Given the description of an element on the screen output the (x, y) to click on. 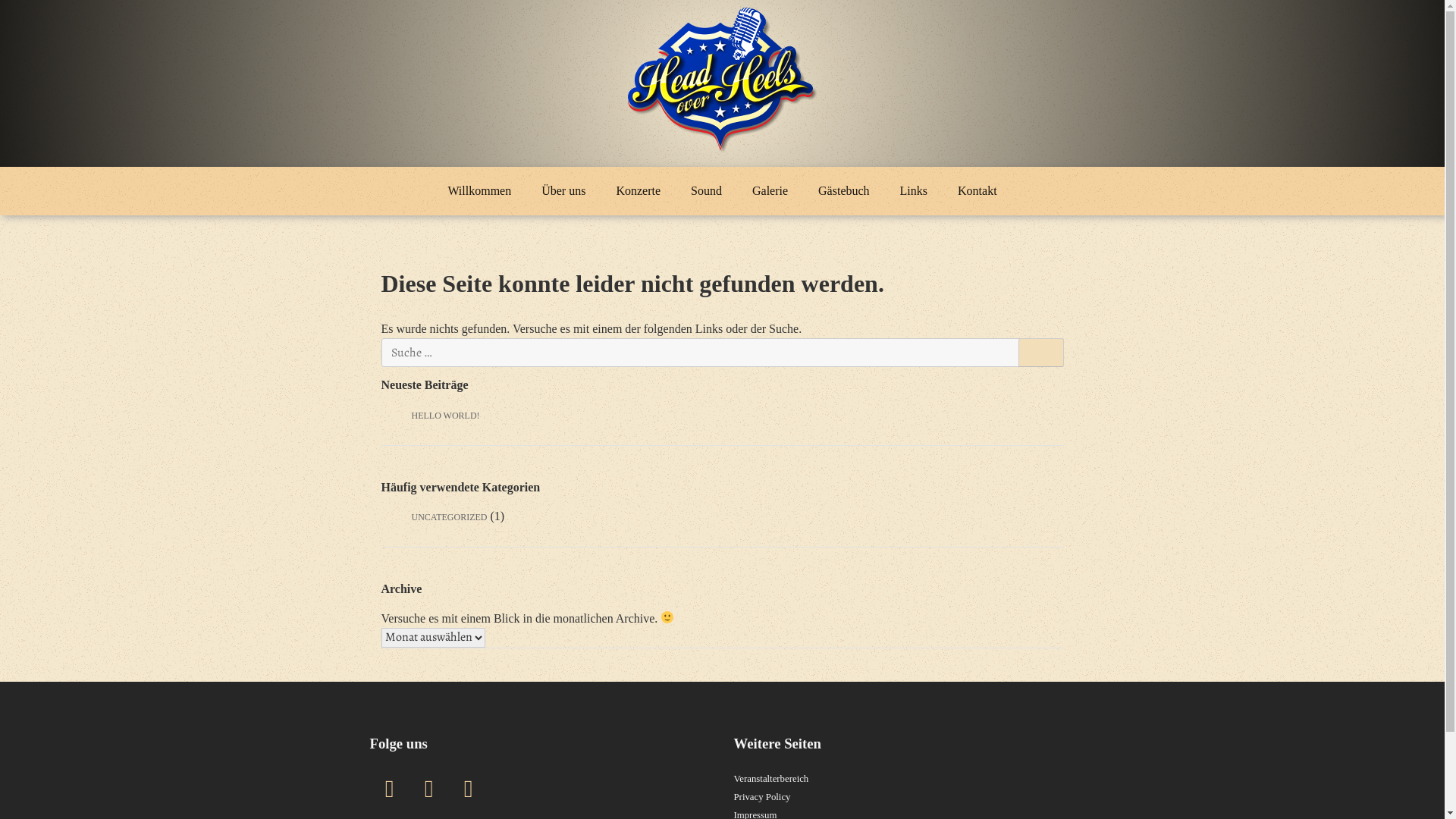
facebook Element type: hover (389, 788)
Head over Heels Element type: text (743, 181)
youtube Element type: hover (468, 788)
Galerie Element type: text (770, 190)
UNCATEGORIZED Element type: text (448, 516)
Kontakt Element type: text (977, 190)
Konzerte Element type: text (637, 190)
facebook Element type: hover (389, 788)
HELLO WORLD! Element type: text (445, 415)
Veranstalterbereich Element type: text (771, 778)
youtube Element type: hover (468, 788)
Privacy Policy Element type: text (762, 796)
Links Element type: text (913, 190)
instagram Element type: hover (429, 788)
Sound Element type: text (706, 190)
instagram Element type: hover (428, 788)
Willkommen Element type: text (479, 190)
